Given the description of an element on the screen output the (x, y) to click on. 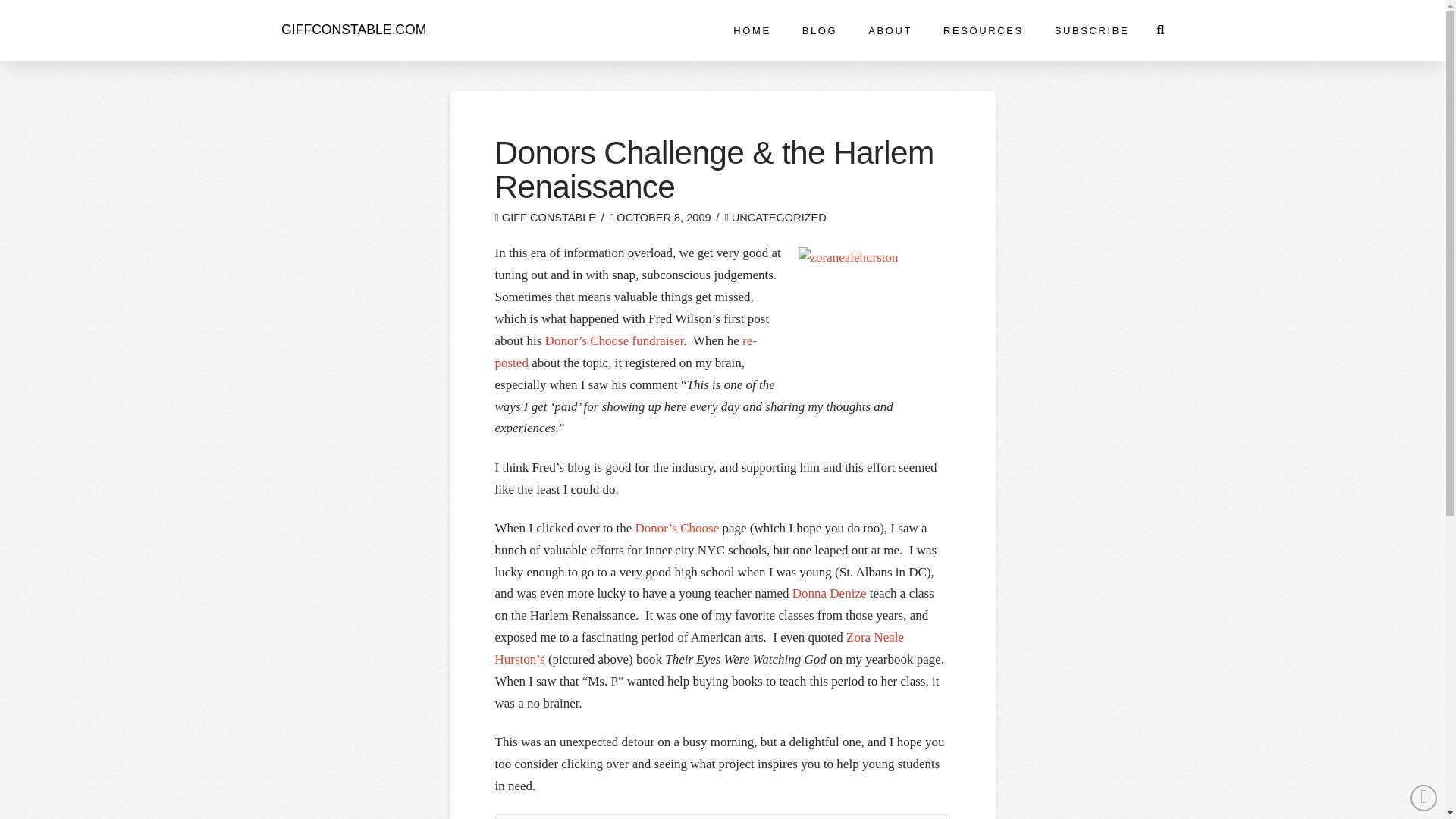
SUBSCRIBE (1091, 30)
zoranealehurston (873, 316)
Back to Top (1423, 797)
HOME (750, 30)
re-posted (625, 351)
RESOURCES (981, 30)
UNCATEGORIZED (774, 217)
Donna Denize (830, 593)
BLOG (818, 30)
ABOUT (889, 30)
GIFFCONSTABLE.COM (352, 30)
